Given the description of an element on the screen output the (x, y) to click on. 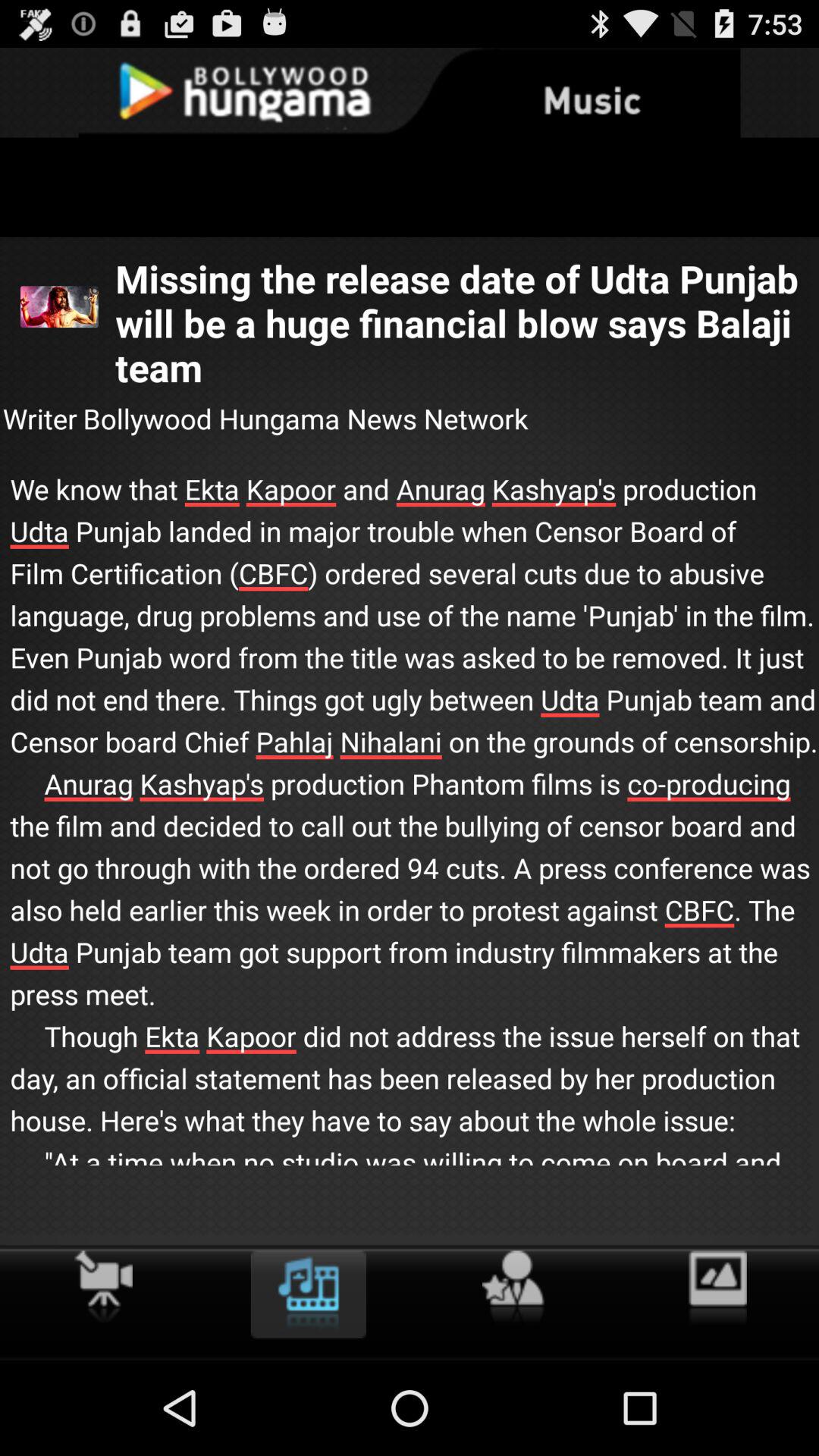
add to favorites (512, 1287)
